Given the description of an element on the screen output the (x, y) to click on. 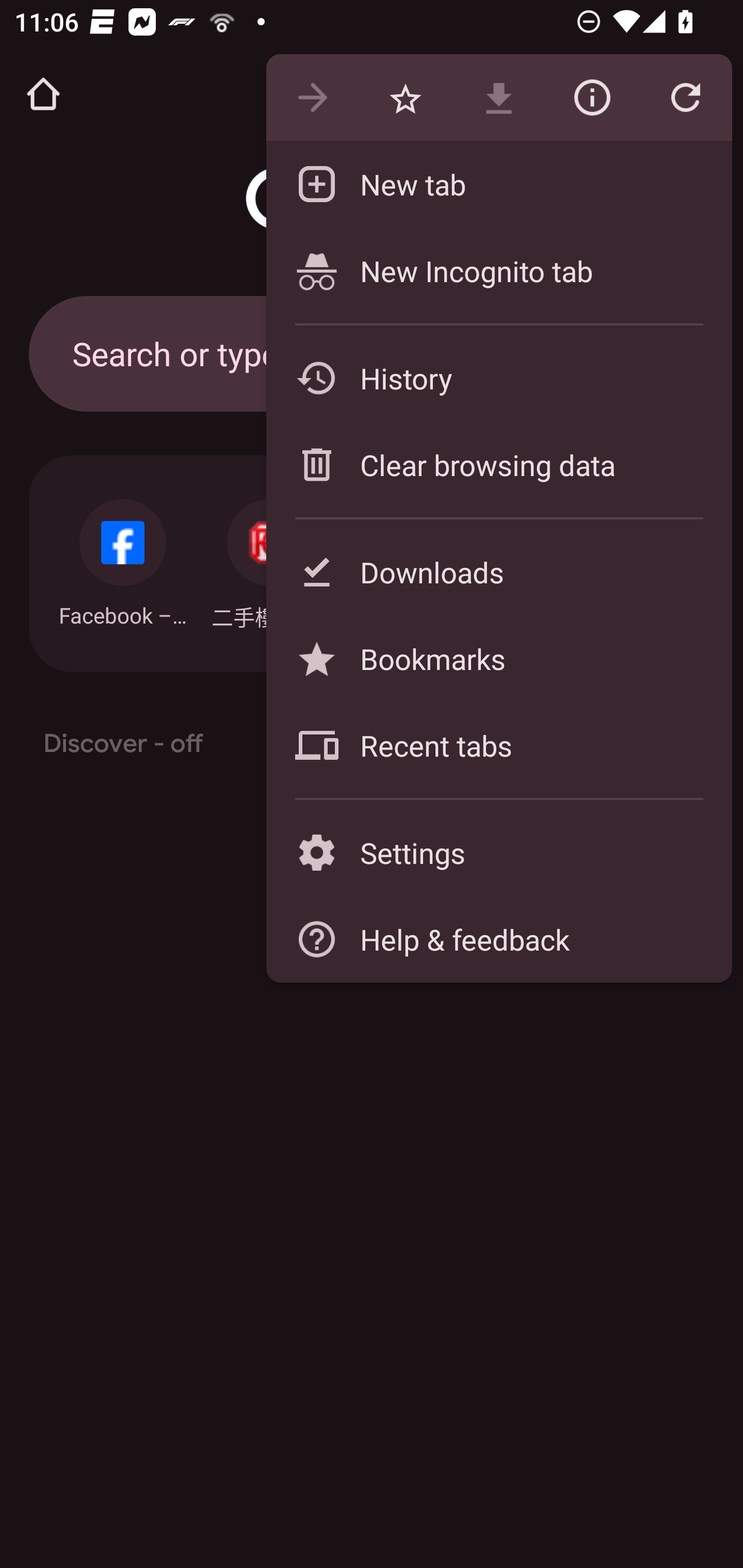
Forward (311, 97)
Bookmark (404, 97)
Download (498, 97)
Page info (591, 97)
Refresh (684, 97)
New tab (498, 184)
New Incognito tab (498, 270)
History (498, 377)
Clear browsing data (498, 464)
Downloads (498, 571)
Bookmarks (498, 658)
Recent tabs (498, 745)
Settings (498, 852)
Help & feedback (498, 939)
